Given the description of an element on the screen output the (x, y) to click on. 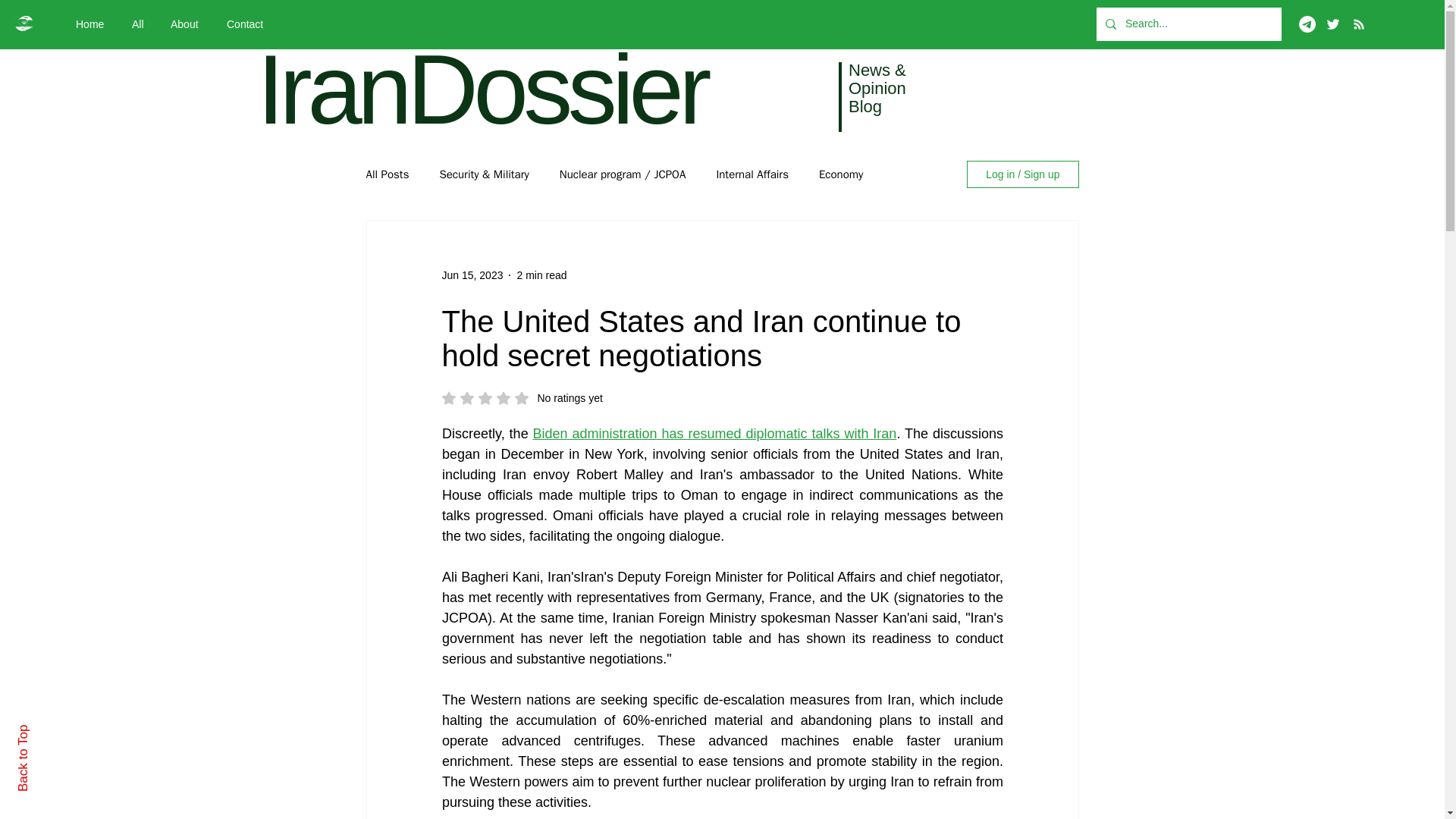
Home (92, 24)
2 min read (541, 274)
Contact (248, 24)
Jun 15, 2023 (471, 274)
Economy (840, 173)
About (521, 397)
All Posts (186, 24)
All (387, 173)
Biden administration has resumed diplomatic talks with Iran (139, 24)
Internal Affairs (714, 433)
IranDossier (752, 173)
